Given the description of an element on the screen output the (x, y) to click on. 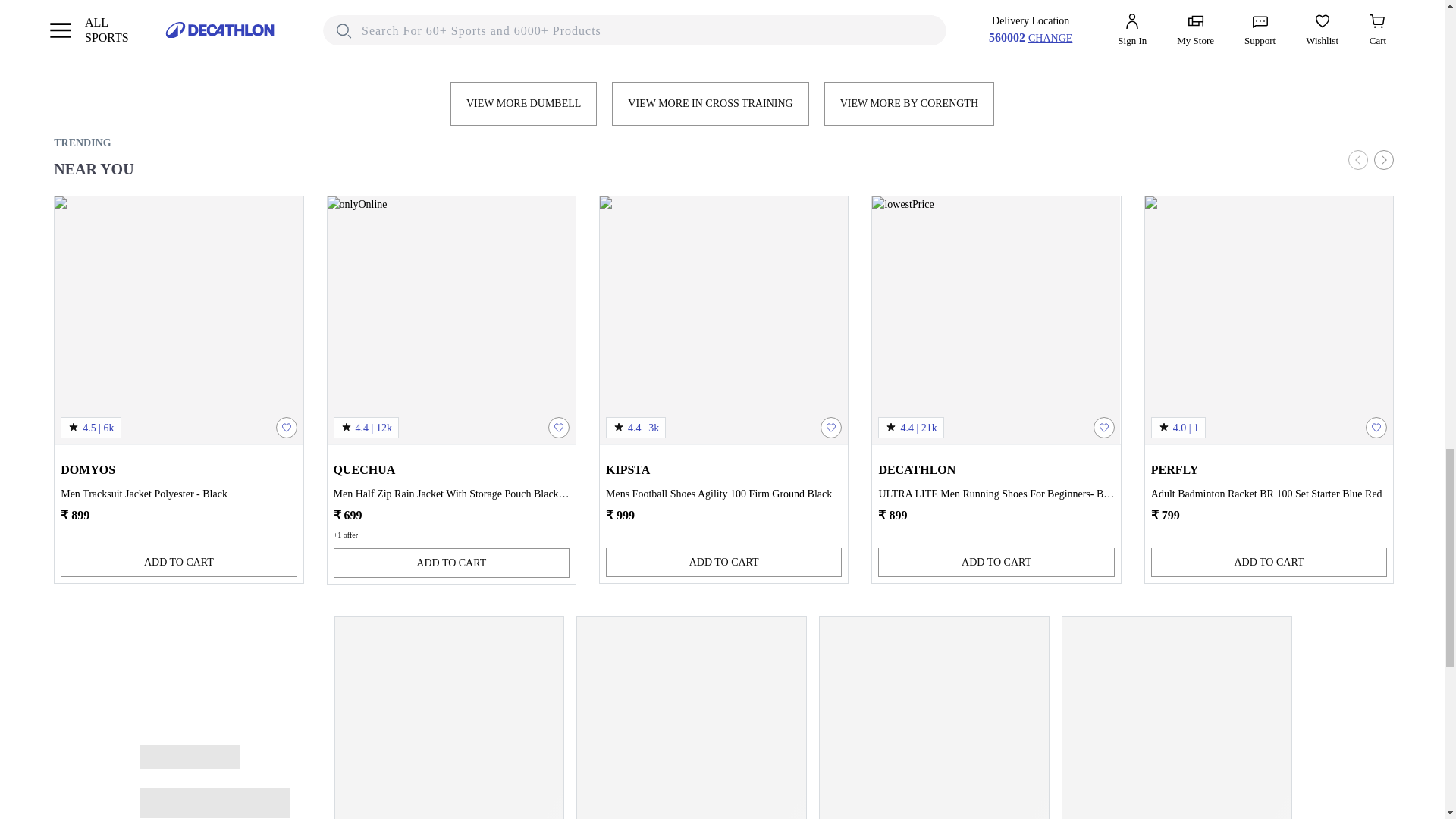
ADD TO CART (179, 562)
VIEW MORE DUMBELL (522, 103)
ADD TO CART (723, 562)
VIEW MORE IN CROSS TRAINING (709, 103)
VIEW MORE BY CORENGTH (909, 103)
REVIEWS (673, 29)
ADD TO CART (451, 562)
